Given the description of an element on the screen output the (x, y) to click on. 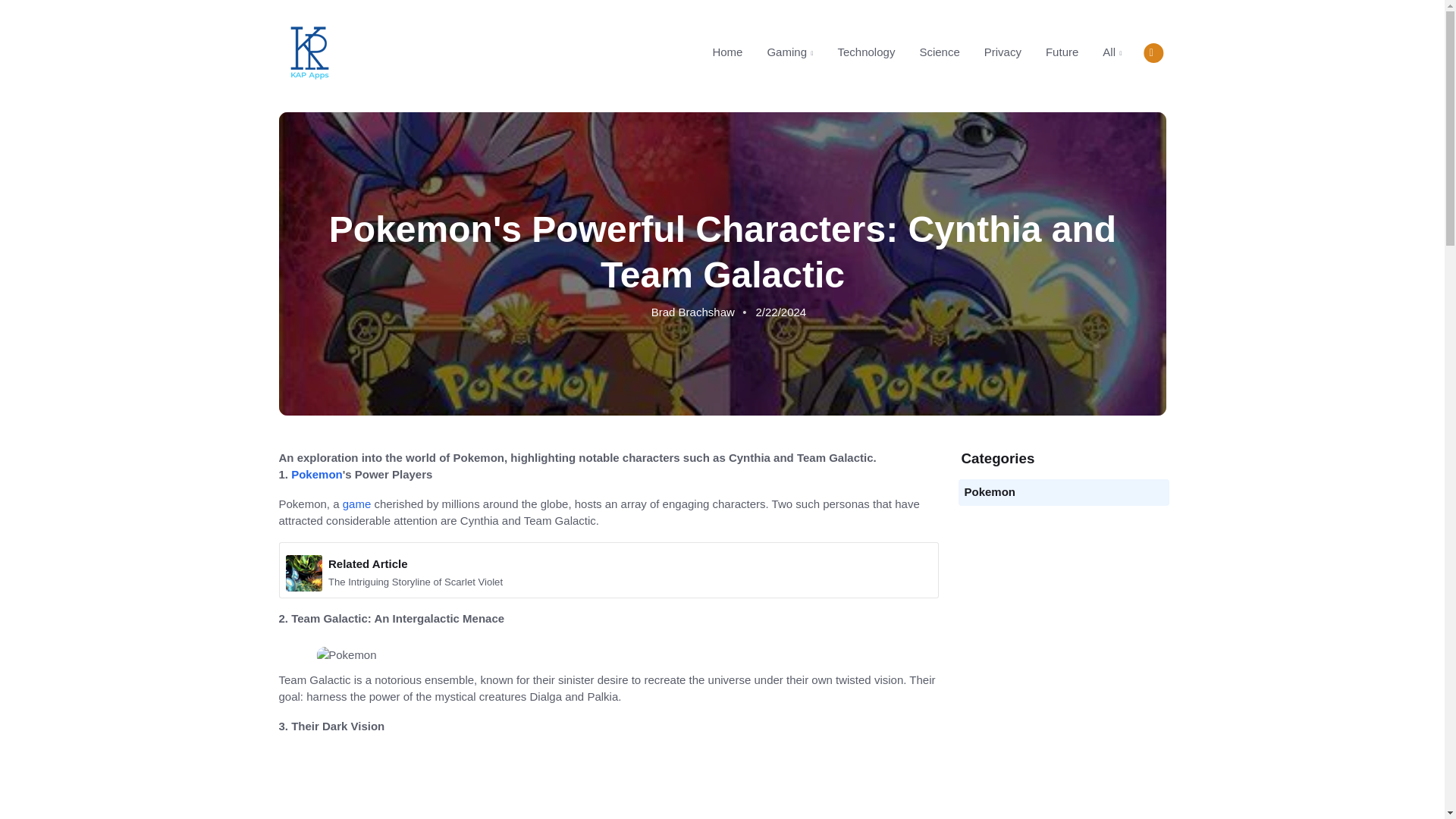
Technology (910, 52)
game (866, 52)
Privacy (356, 503)
Pokemon (1002, 52)
Advertisement (316, 473)
Brad Brachshaw (607, 782)
Science (691, 311)
Pokemon (939, 52)
Gaming (989, 491)
